Given the description of an element on the screen output the (x, y) to click on. 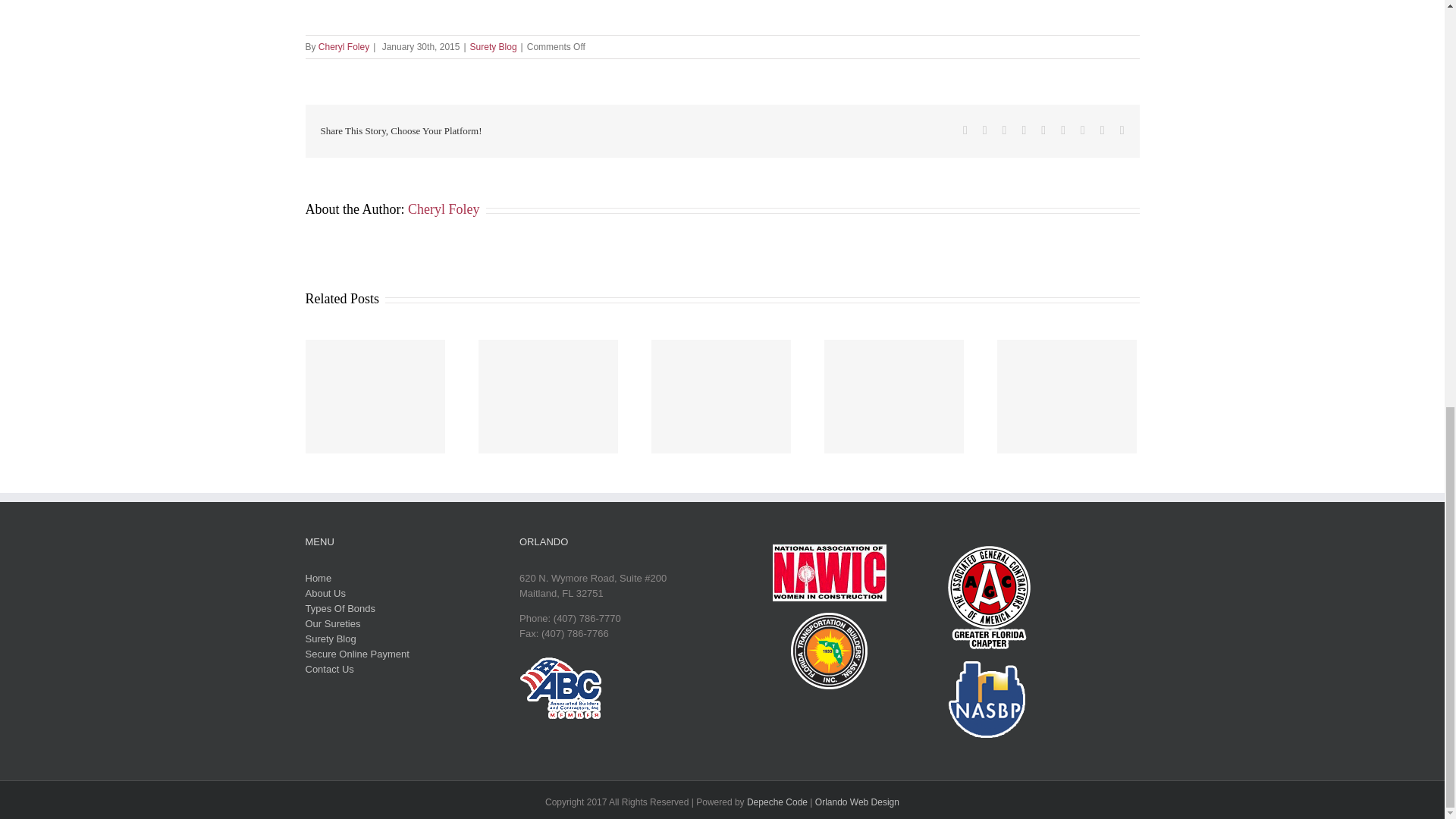
Posts by Cheryl Foley (343, 46)
Posts by Cheryl Foley (443, 209)
Surety Blog (493, 46)
Cheryl Foley (343, 46)
